Given the description of an element on the screen output the (x, y) to click on. 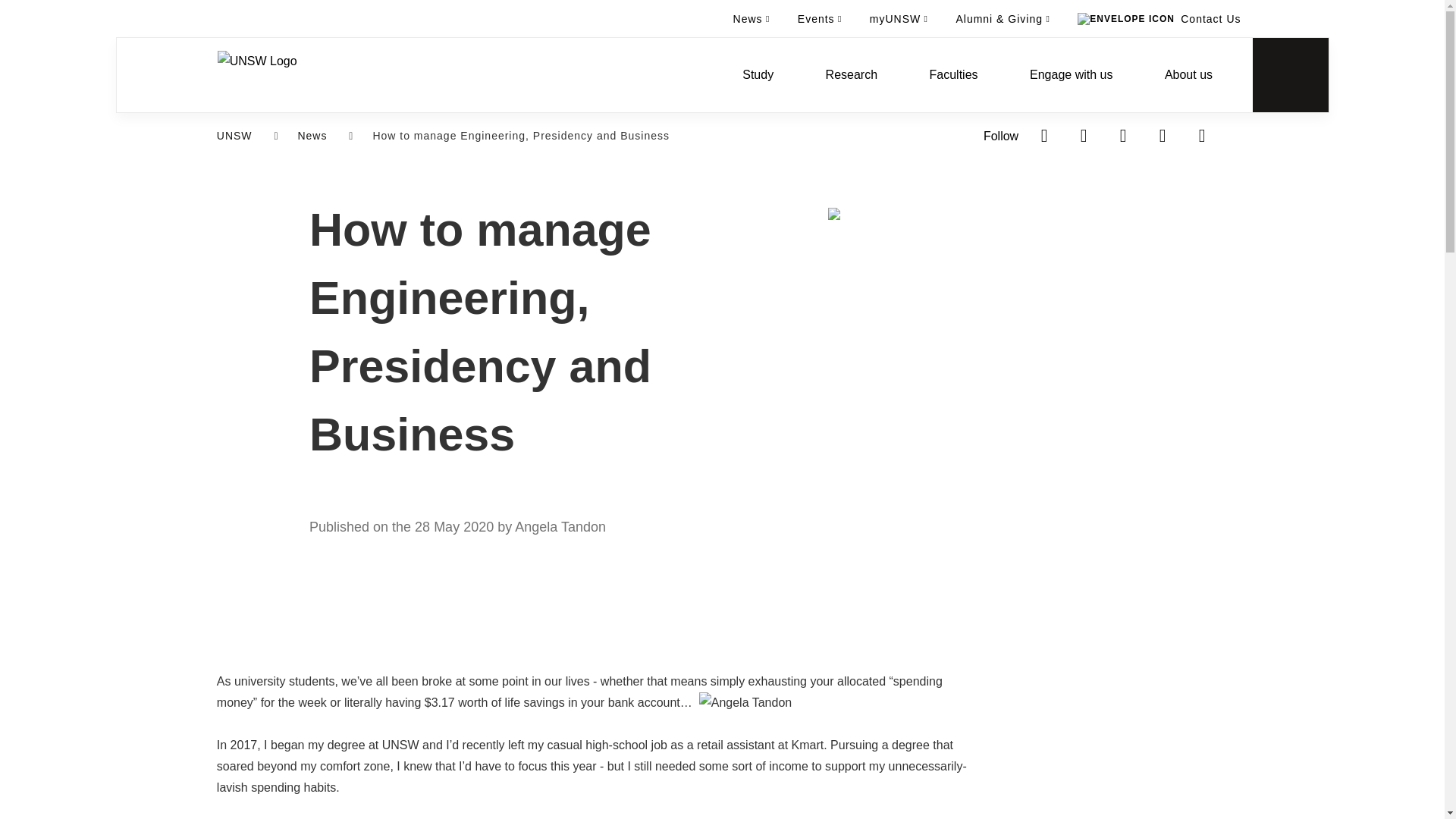
Home (256, 74)
Research (851, 74)
Study (757, 74)
